Given the description of an element on the screen output the (x, y) to click on. 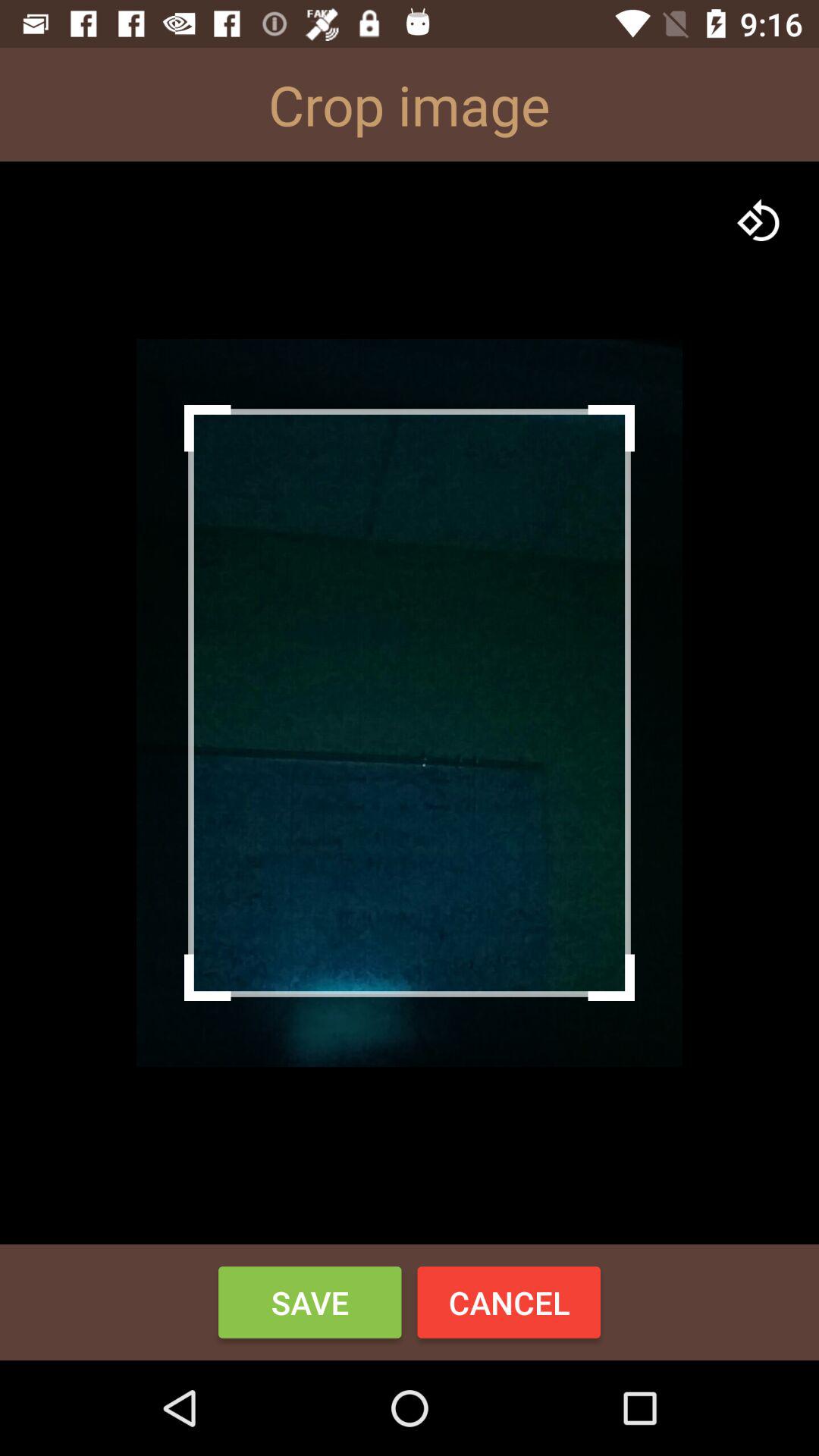
launch the item at the top right corner (759, 221)
